Given the description of an element on the screen output the (x, y) to click on. 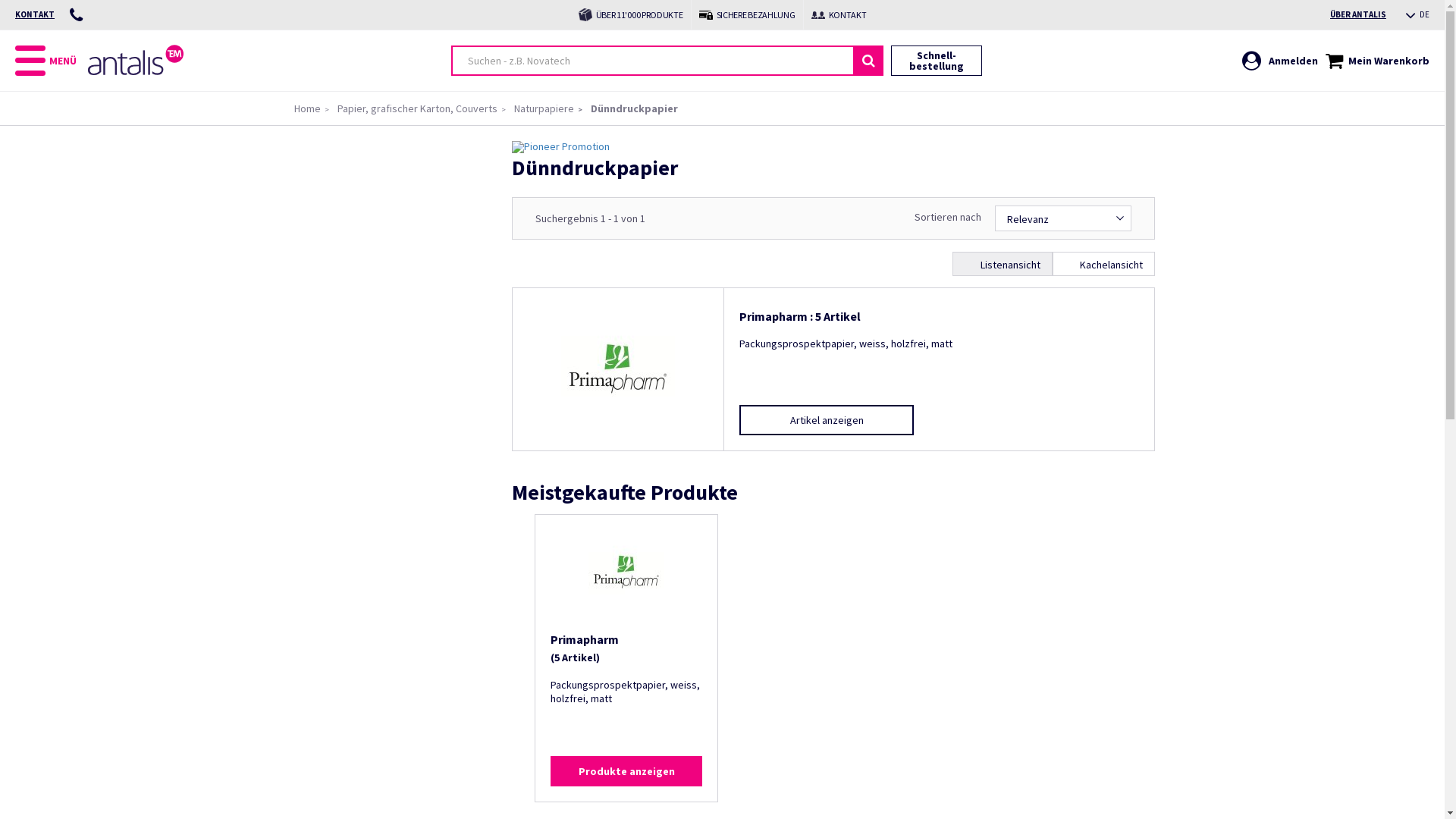
safe-payment.png Element type: hover (705, 14)
Listenansicht Element type: text (1002, 263)
consulting.png Element type: hover (818, 14)
Home Element type: text (307, 108)
Primapharm Logo Element type: hover (617, 368)
Packungsprospektpapier, weiss, holzfrei, matt Element type: text (939, 366)
Artikel anzeigen Element type: text (826, 419)
Mein Warenkorb Element type: text (1377, 60)
Produkte anzeigen Element type: text (626, 771)
Kachelansicht Element type: text (1103, 263)
SICHERE BEZAHLUNG Element type: text (747, 14)
Antalis eShop Element type: hover (142, 71)
Primapharm : 5 Artikel Element type: text (939, 312)
KONTAKT Element type: text (838, 14)
Anmelden Element type: text (1279, 60)
KONTAKT Element type: text (34, 14)
Schnell-bestellung Element type: text (936, 60)
Naturpapiere Element type: text (544, 108)
Antalis eShop Element type: hover (135, 59)
Papier, grafischer Karton, Couverts Element type: text (416, 108)
